Given the description of an element on the screen output the (x, y) to click on. 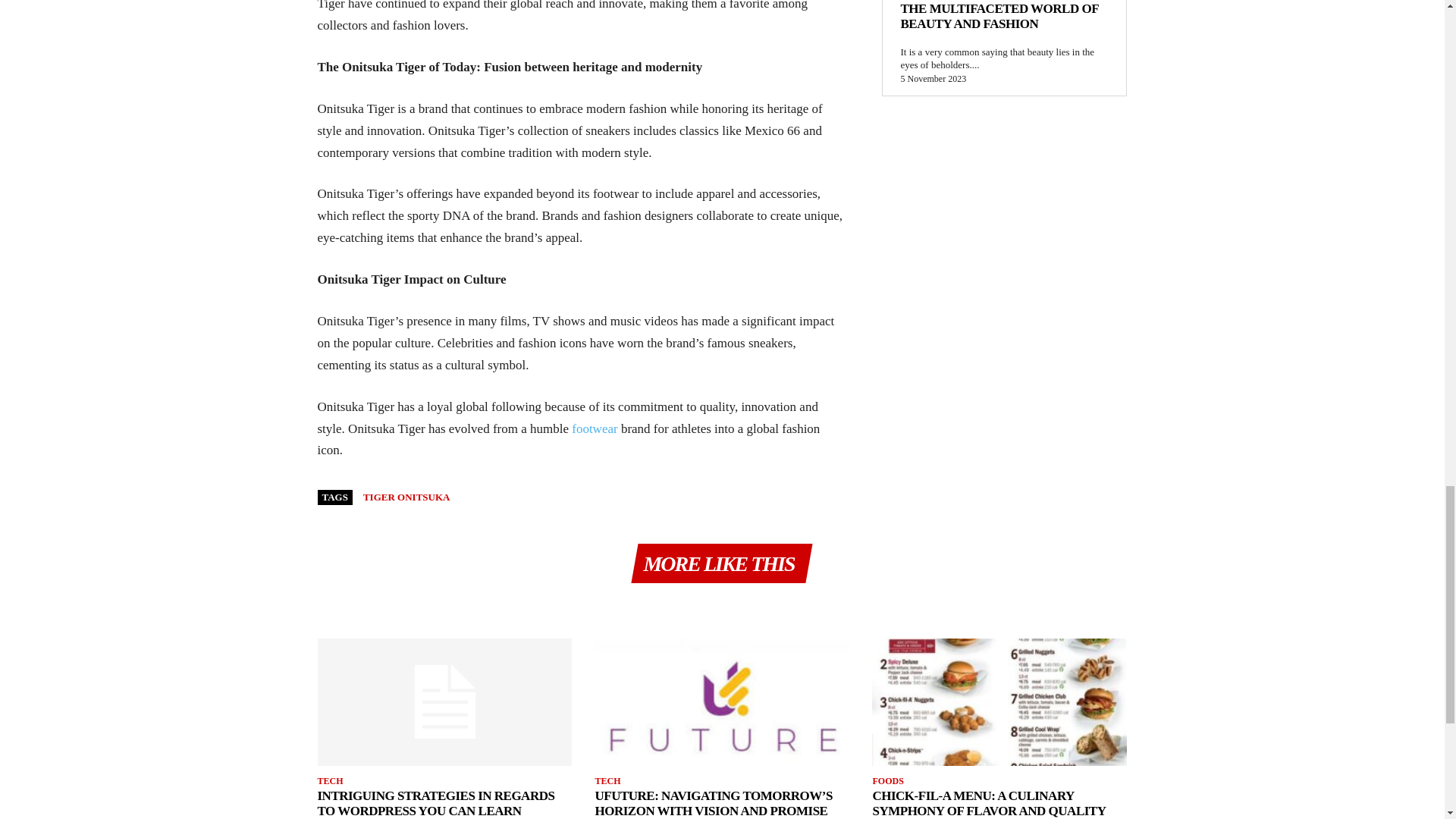
TIGER ONITSUKA (405, 496)
footwear (594, 428)
